Given the description of an element on the screen output the (x, y) to click on. 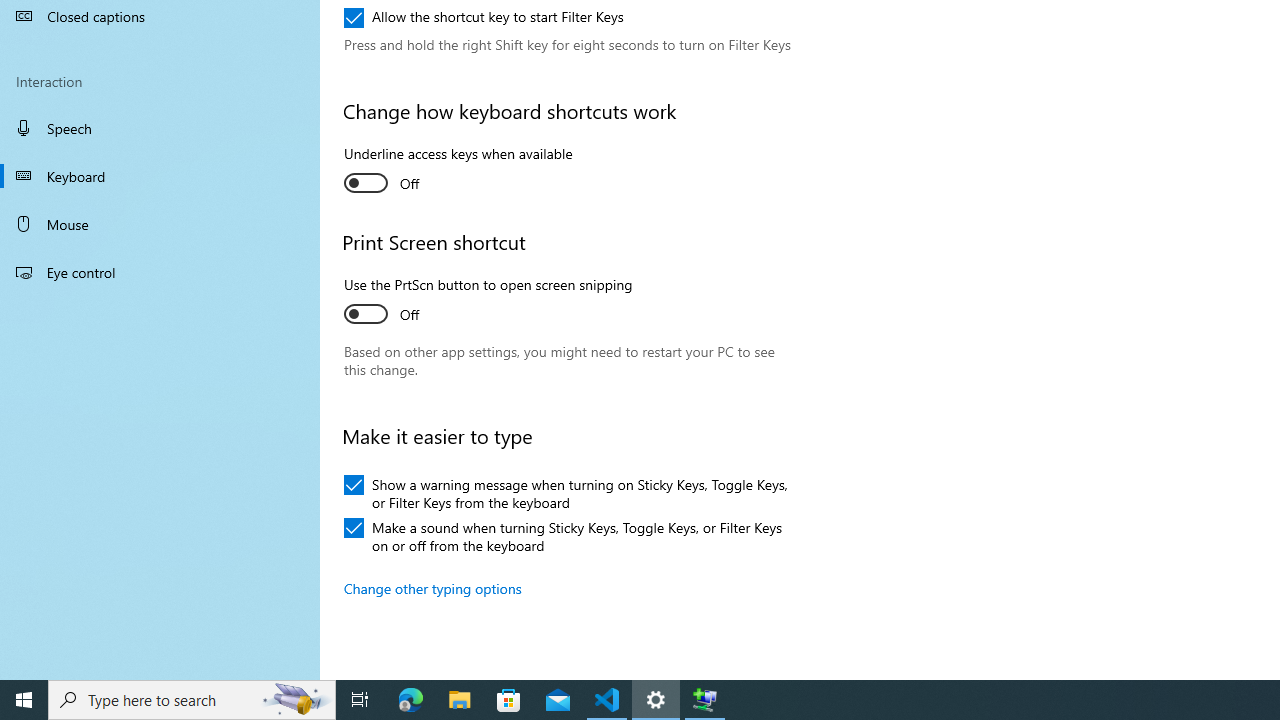
Keyboard (160, 175)
Type here to search (191, 699)
Change other typing options (433, 588)
Start (24, 699)
Underline access keys when available (458, 171)
Mouse (160, 223)
Extensible Wizards Host Process - 1 running window (704, 699)
File Explorer (460, 699)
Task View (359, 699)
Speech (160, 127)
Eye control (160, 271)
Allow the shortcut key to start Filter Keys (484, 17)
Microsoft Edge (411, 699)
